Given the description of an element on the screen output the (x, y) to click on. 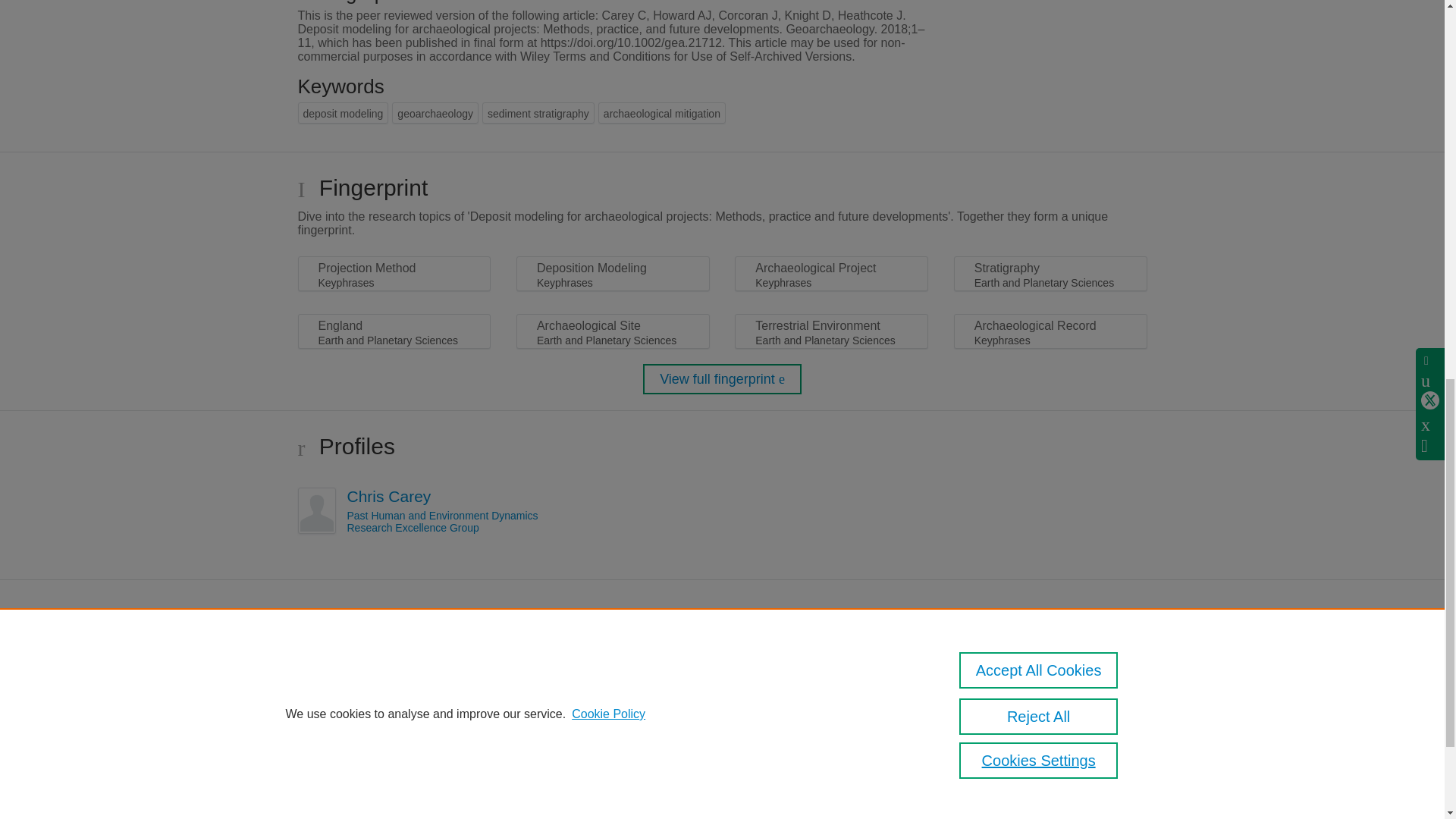
View full fingerprint (722, 378)
Chris Carey (388, 496)
Scopus (394, 816)
Pure (362, 816)
